Given the description of an element on the screen output the (x, y) to click on. 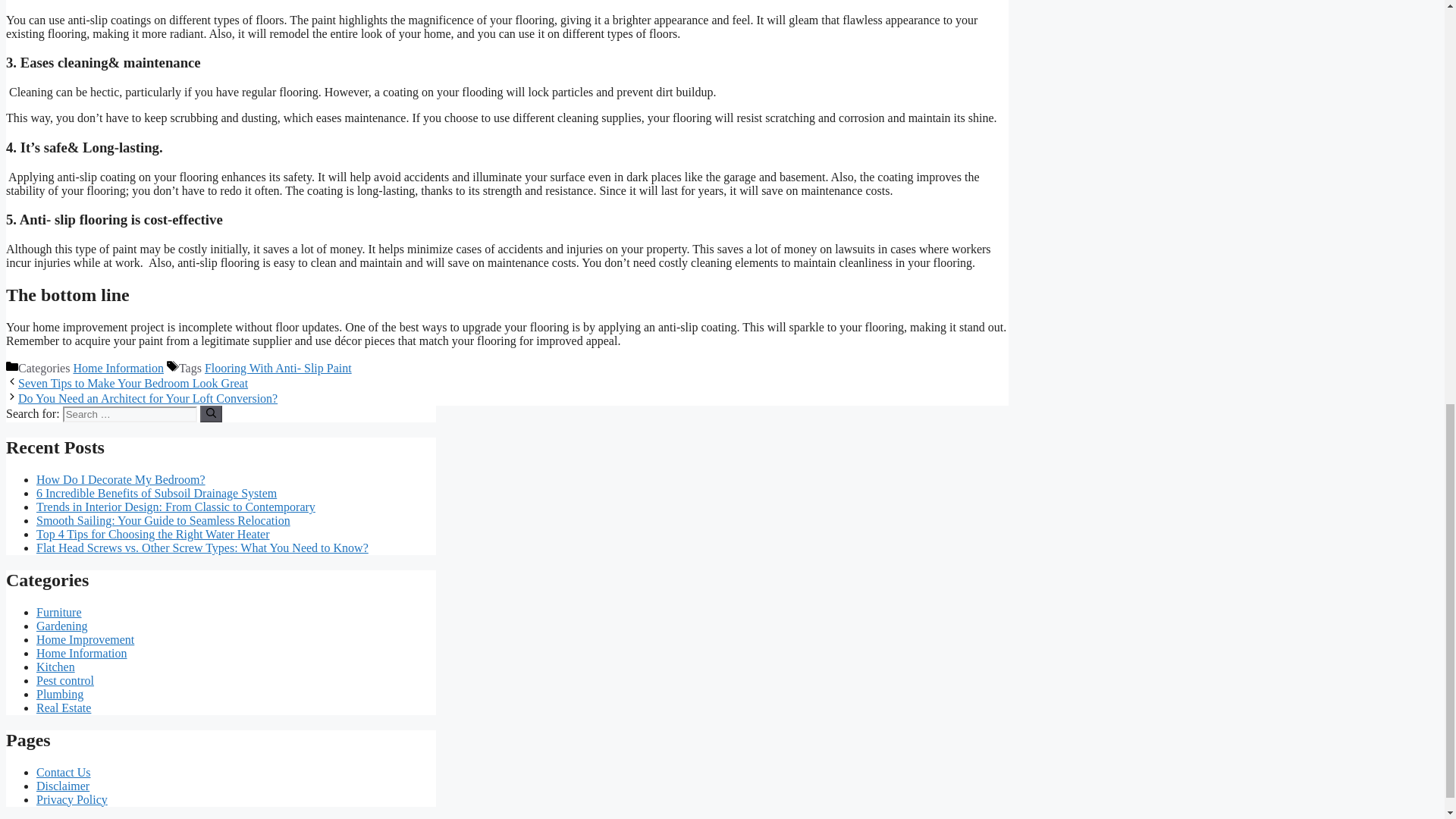
Pest control (65, 680)
Do You Need an Architect for Your Loft Conversion? (147, 398)
Kitchen (55, 666)
Search for: (129, 414)
Trends in Interior Design: From Classic to Contemporary (175, 506)
Home Information (82, 653)
Top 4 Tips for Choosing the Right Water Heater (152, 533)
Flooring With Anti- Slip Paint (278, 367)
How Do I Decorate My Bedroom? (120, 479)
Gardening (61, 625)
Smooth Sailing: Your Guide to Seamless Relocation (162, 520)
6 Incredible Benefits of Subsoil Drainage System (156, 492)
Seven Tips to Make Your Bedroom Look Great (132, 382)
Home Improvement (84, 639)
Plumbing (59, 694)
